Given the description of an element on the screen output the (x, y) to click on. 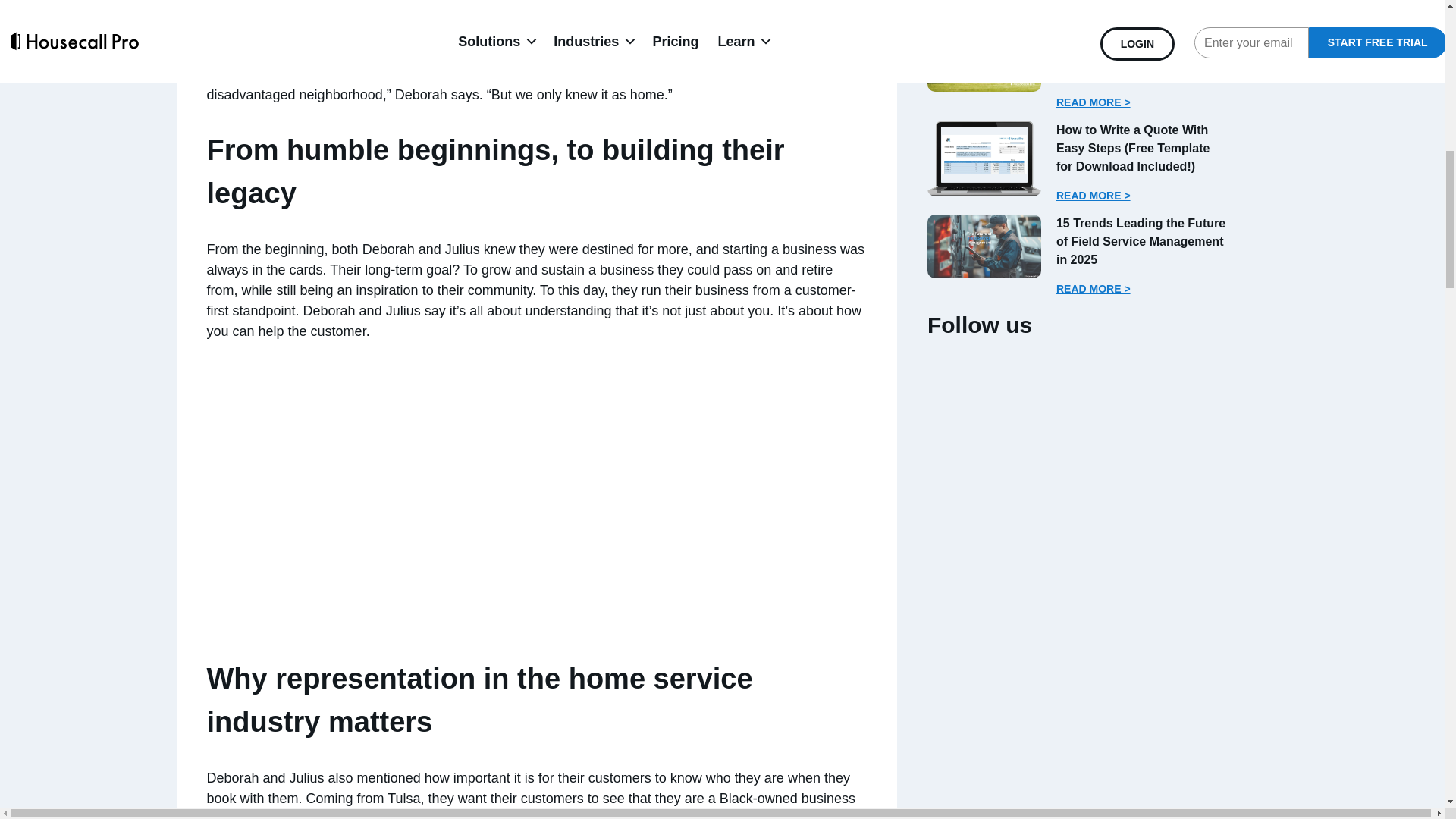
 - Housecall Pro (984, 158)
 - Housecall Pro (984, 59)
 - Housecall Pro (984, 246)
